Given the description of an element on the screen output the (x, y) to click on. 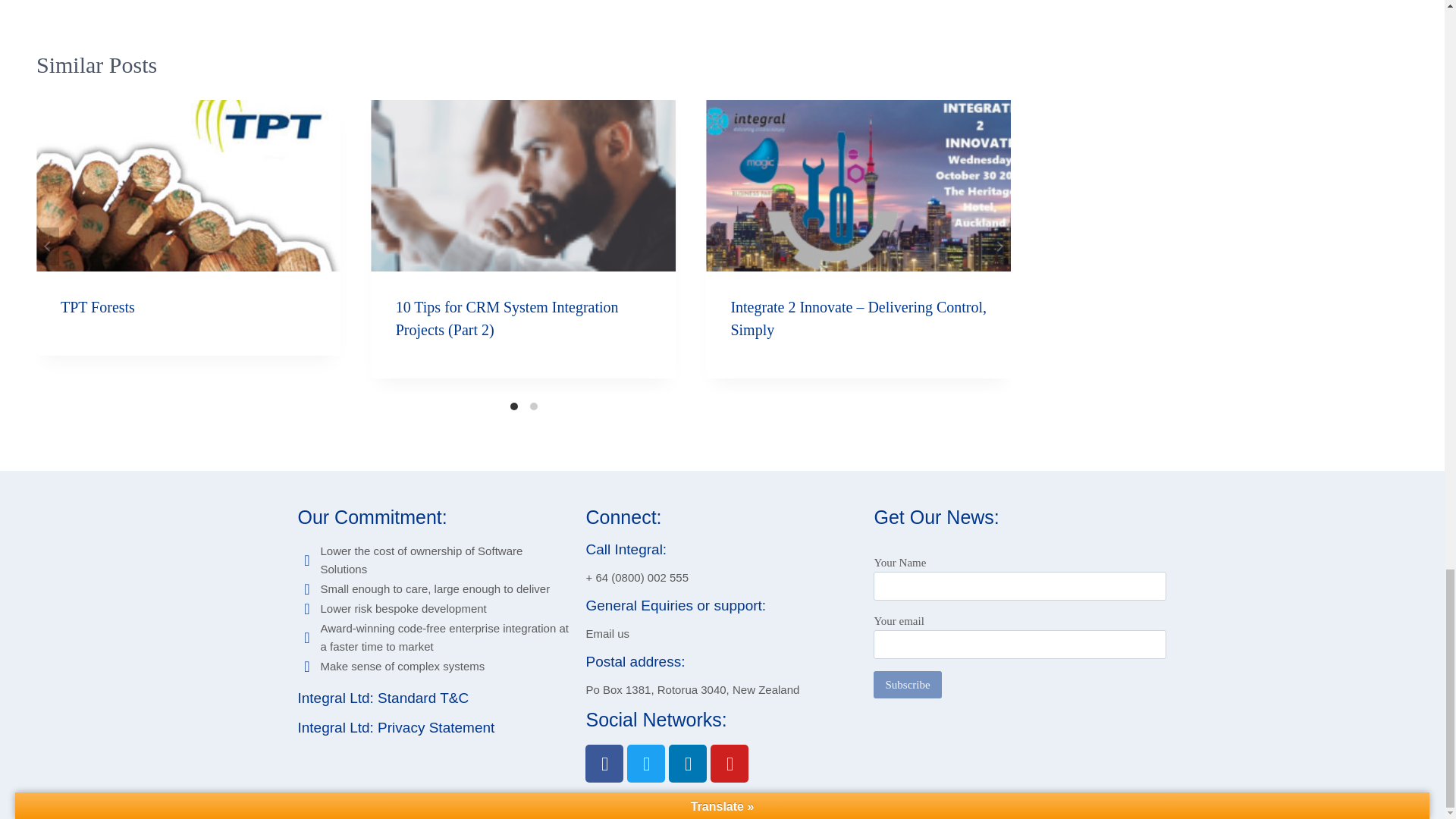
Subscribe (906, 684)
